Given the description of an element on the screen output the (x, y) to click on. 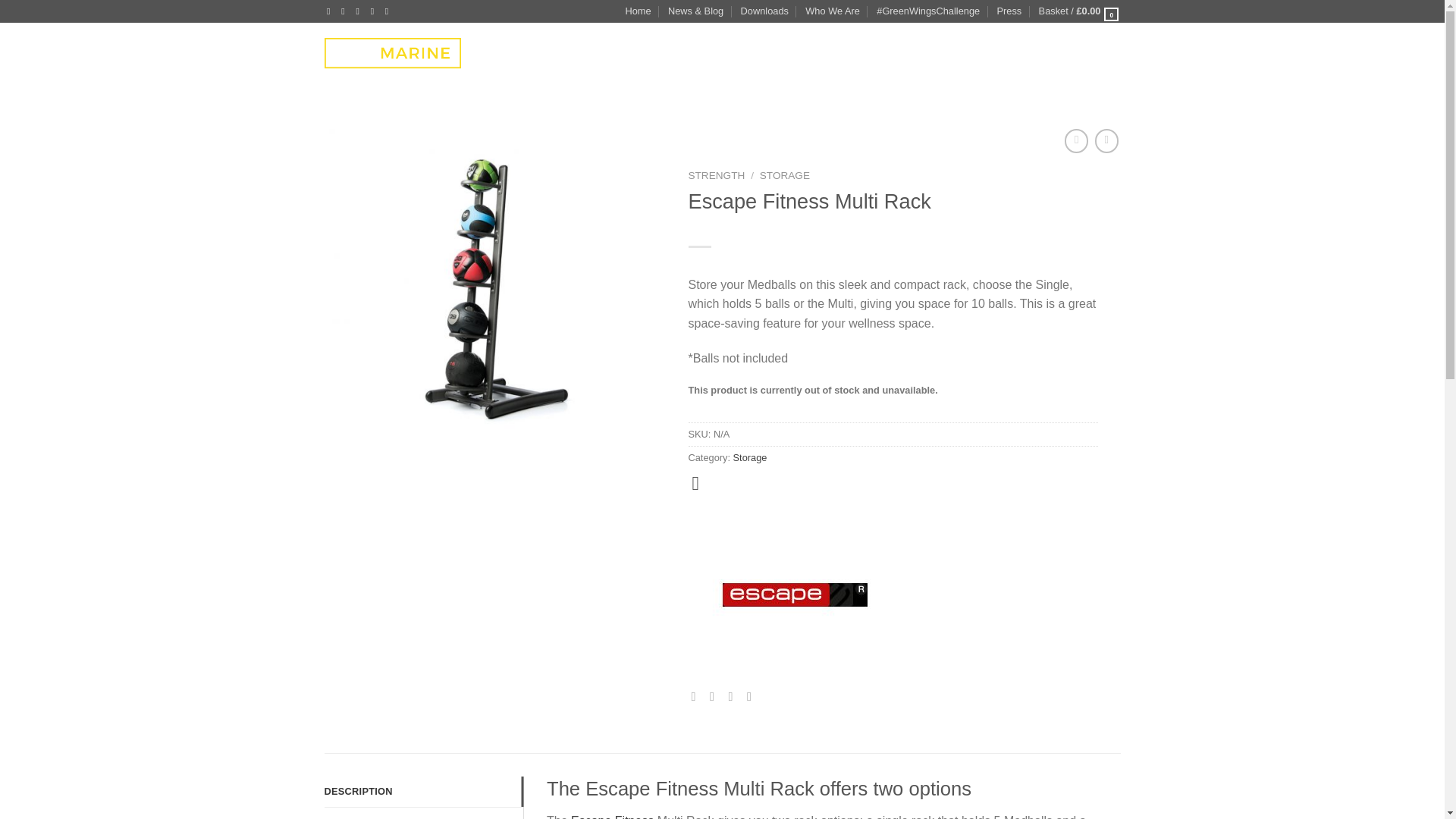
Escape Fitness (794, 594)
Share on Facebook (697, 695)
Home (637, 11)
Downloads (765, 11)
Equipment (569, 60)
Press (1009, 11)
Who We Are (832, 11)
Basket (1080, 11)
